Given the description of an element on the screen output the (x, y) to click on. 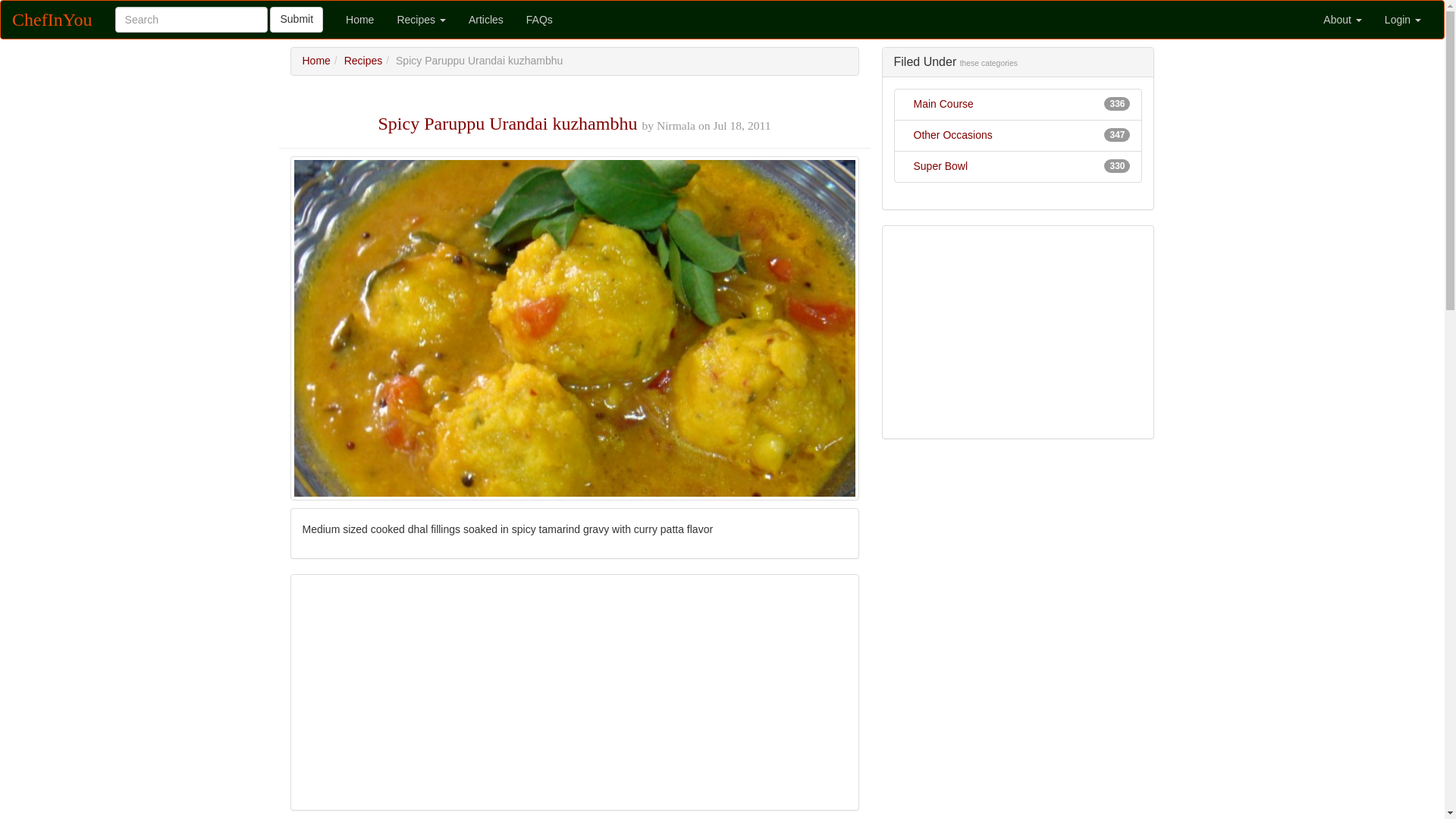
Super Bowl (940, 165)
Other Occasions (951, 134)
Recipes (362, 60)
Submit (296, 19)
Articles (486, 19)
Advertisement (1017, 331)
ChefInYou (52, 19)
Recipes (421, 19)
Login (1402, 19)
FAQs (539, 19)
About (1342, 19)
Advertisement (573, 692)
Home (359, 19)
Home (315, 60)
Main Course (942, 103)
